Given the description of an element on the screen output the (x, y) to click on. 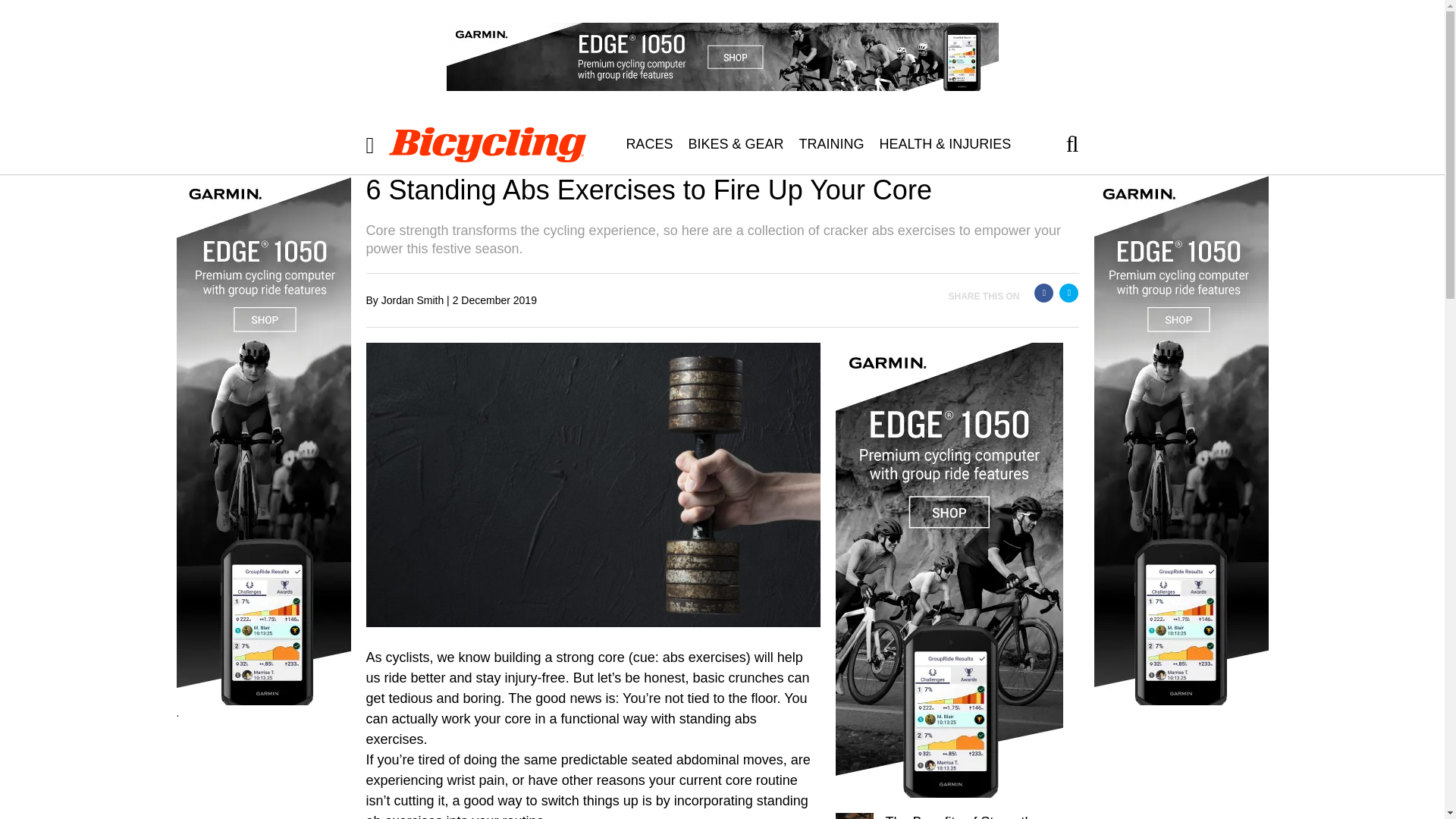
The Benefits of Strength Training for Cyclists (958, 816)
RACES (648, 143)
TRAINING (830, 143)
